Given the description of an element on the screen output the (x, y) to click on. 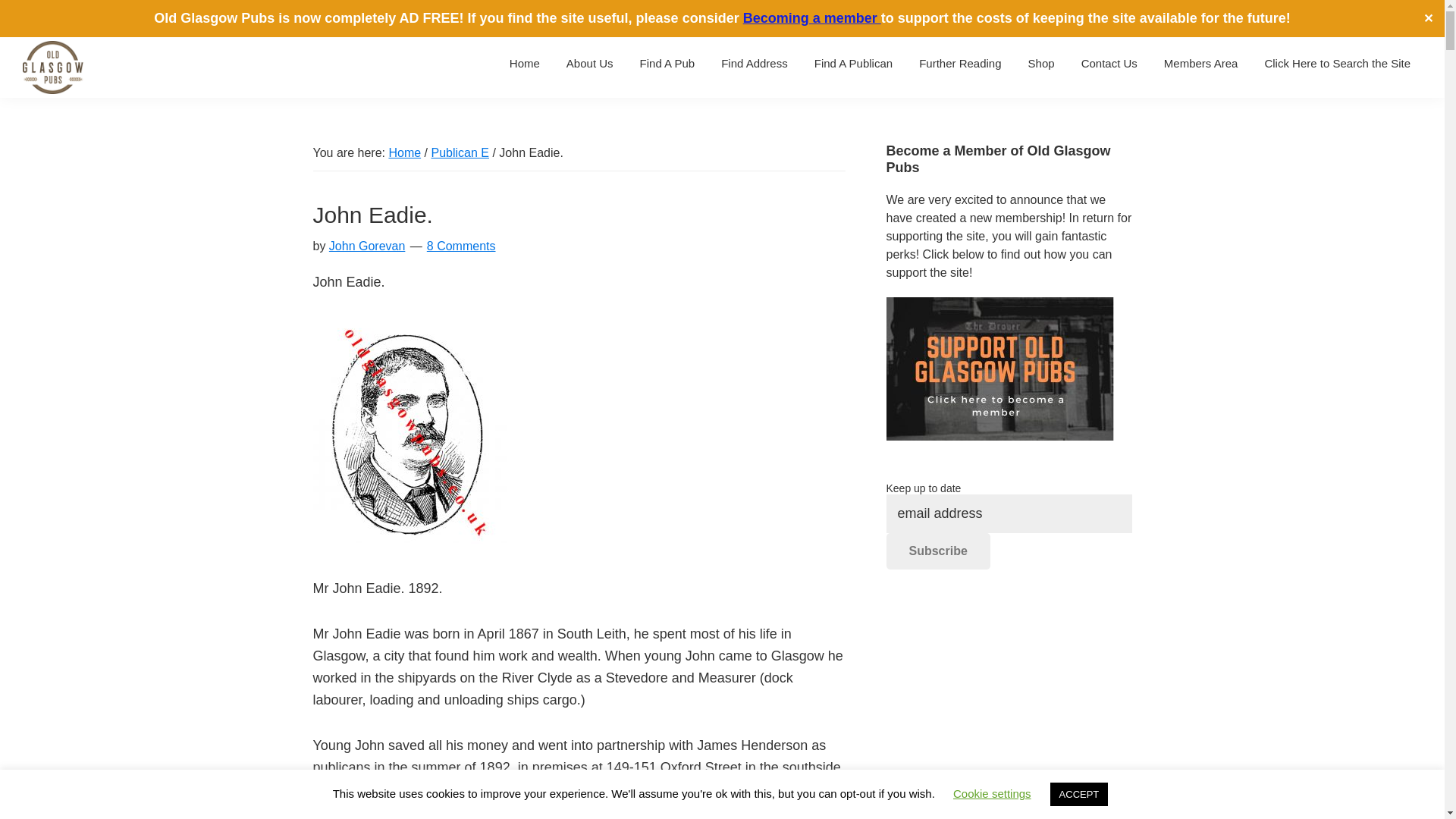
Old Glasgow Pubs (54, 116)
Publican E (459, 152)
Click Here to Search the Site (1337, 62)
8 Comments (461, 245)
Find Address (754, 62)
Home (524, 62)
Home (404, 152)
Subscribe (937, 551)
Contact Us (1109, 62)
Members Area (1201, 62)
About Us (589, 62)
John Gorevan (367, 245)
Becoming a member (811, 17)
Further Reading (959, 62)
